Given the description of an element on the screen output the (x, y) to click on. 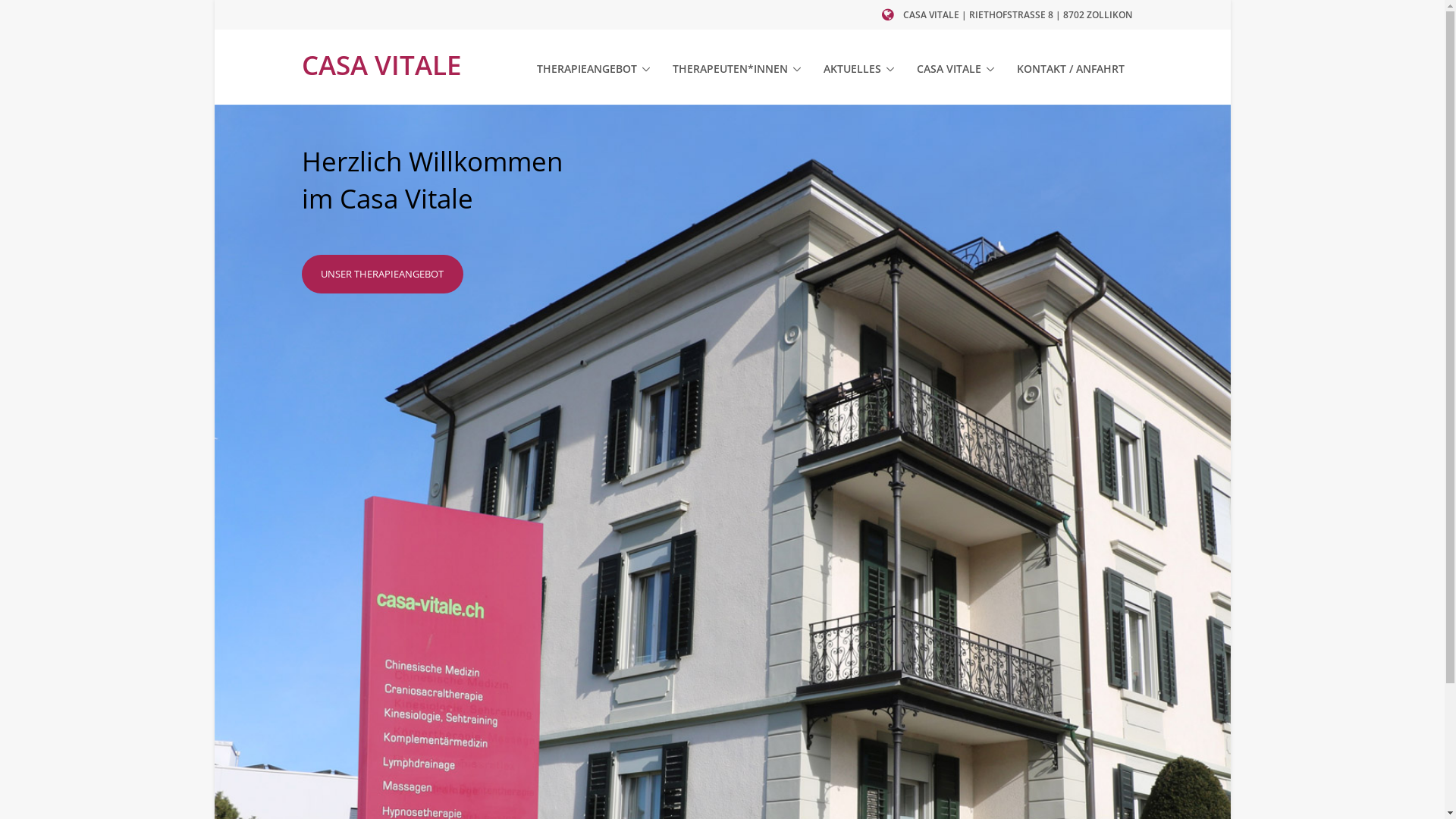
CASA VITALE Element type: text (381, 66)
KONTAKT / ANFAHRT Element type: text (1069, 68)
AKTUELLES Element type: text (858, 68)
THERAPEUTEN*INNEN Element type: text (735, 68)
CASA VITALE Element type: text (954, 68)
THERAPIEANGEBOT Element type: text (592, 68)
UNSER THERAPIEANGEBOT Element type: text (382, 274)
